Given the description of an element on the screen output the (x, y) to click on. 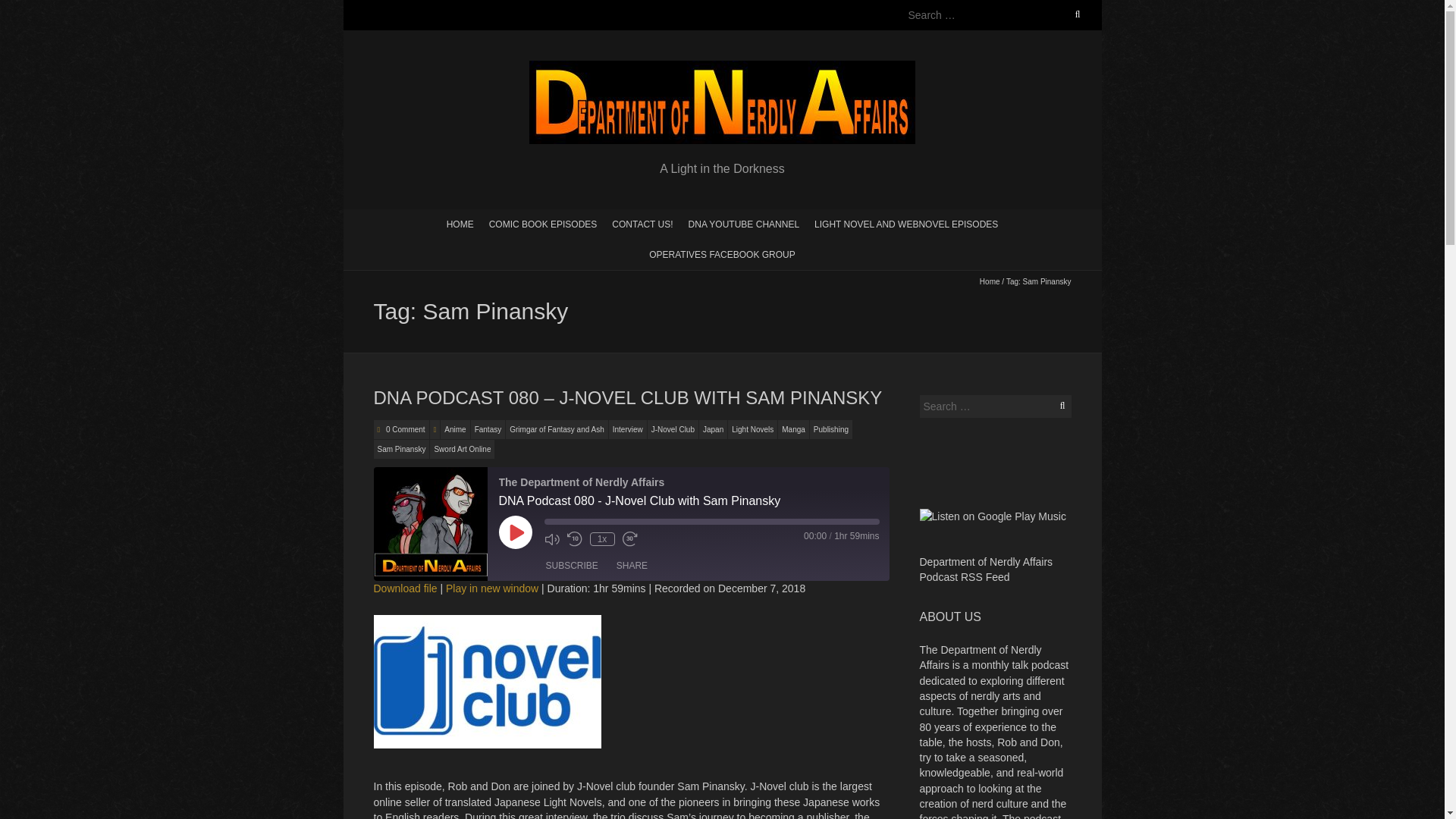
Seek (711, 521)
Sam Pinansky (400, 448)
OPERATIVES FACEBOOK GROUP (722, 253)
Fast Forward 30 seconds (629, 539)
Play Episode (515, 531)
Rewind 10 seconds (574, 539)
J-Novel Club (672, 429)
Fast Forward 30 seconds (629, 539)
Japan (712, 429)
The Department of Nerdly Affairs (722, 68)
Light Novels (752, 429)
DNA YOUTUBE CHANNEL (743, 223)
1x (601, 539)
Play in new window (491, 588)
Playback Speed (601, 539)
